Given the description of an element on the screen output the (x, y) to click on. 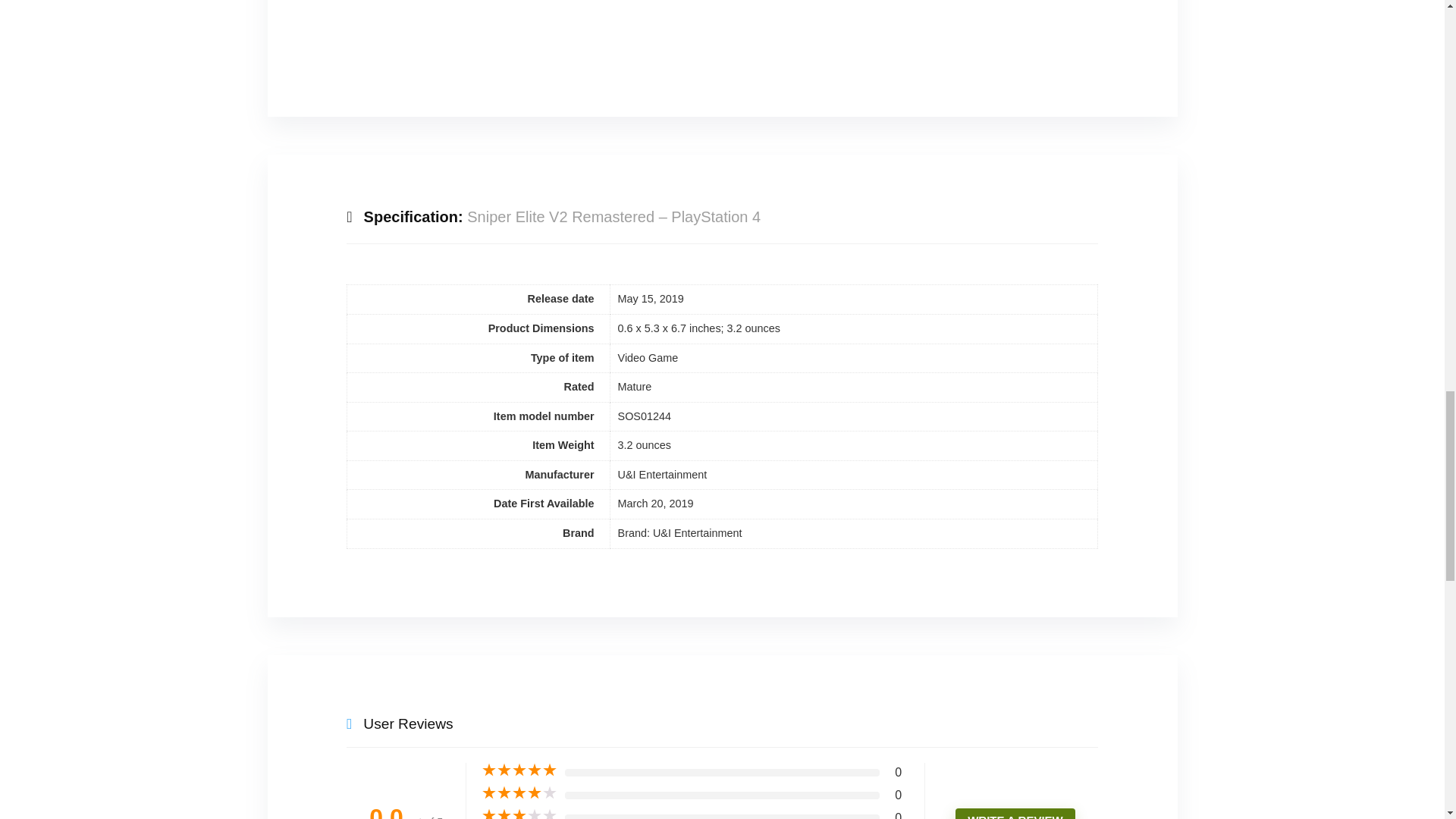
Rated 5 out of 5 (519, 770)
WRITE A REVIEW (1015, 813)
Rated 4 out of 5 (519, 792)
Rated 3 out of 5 (519, 813)
